Given the description of an element on the screen output the (x, y) to click on. 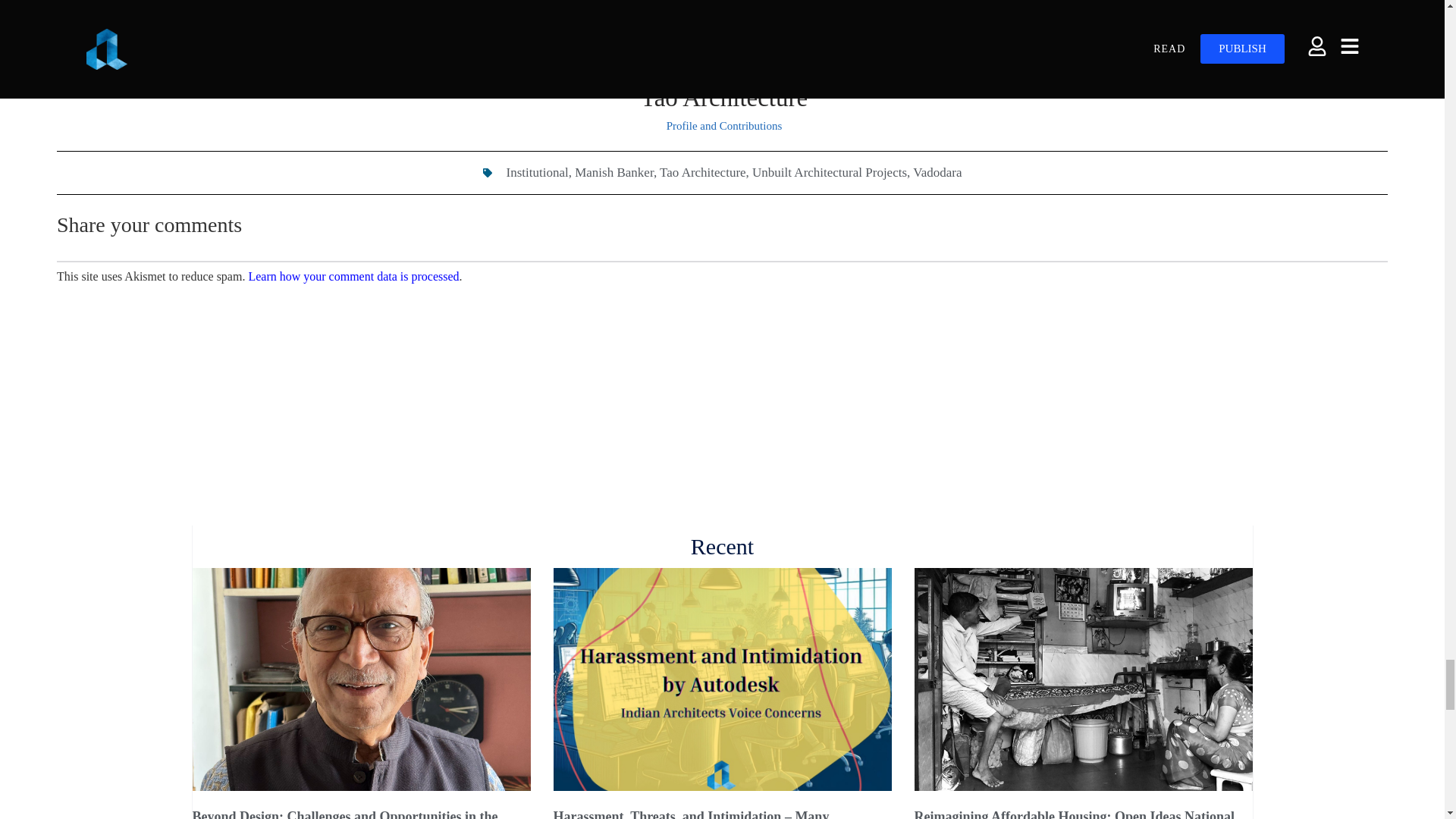
Institutional (537, 172)
Manish Banker (614, 172)
Tao Architecture (702, 172)
Tao Architecture (724, 108)
Profile and Contributions (724, 126)
Unbuilt Architectural Projects (829, 172)
Vadodara (936, 172)
